Given the description of an element on the screen output the (x, y) to click on. 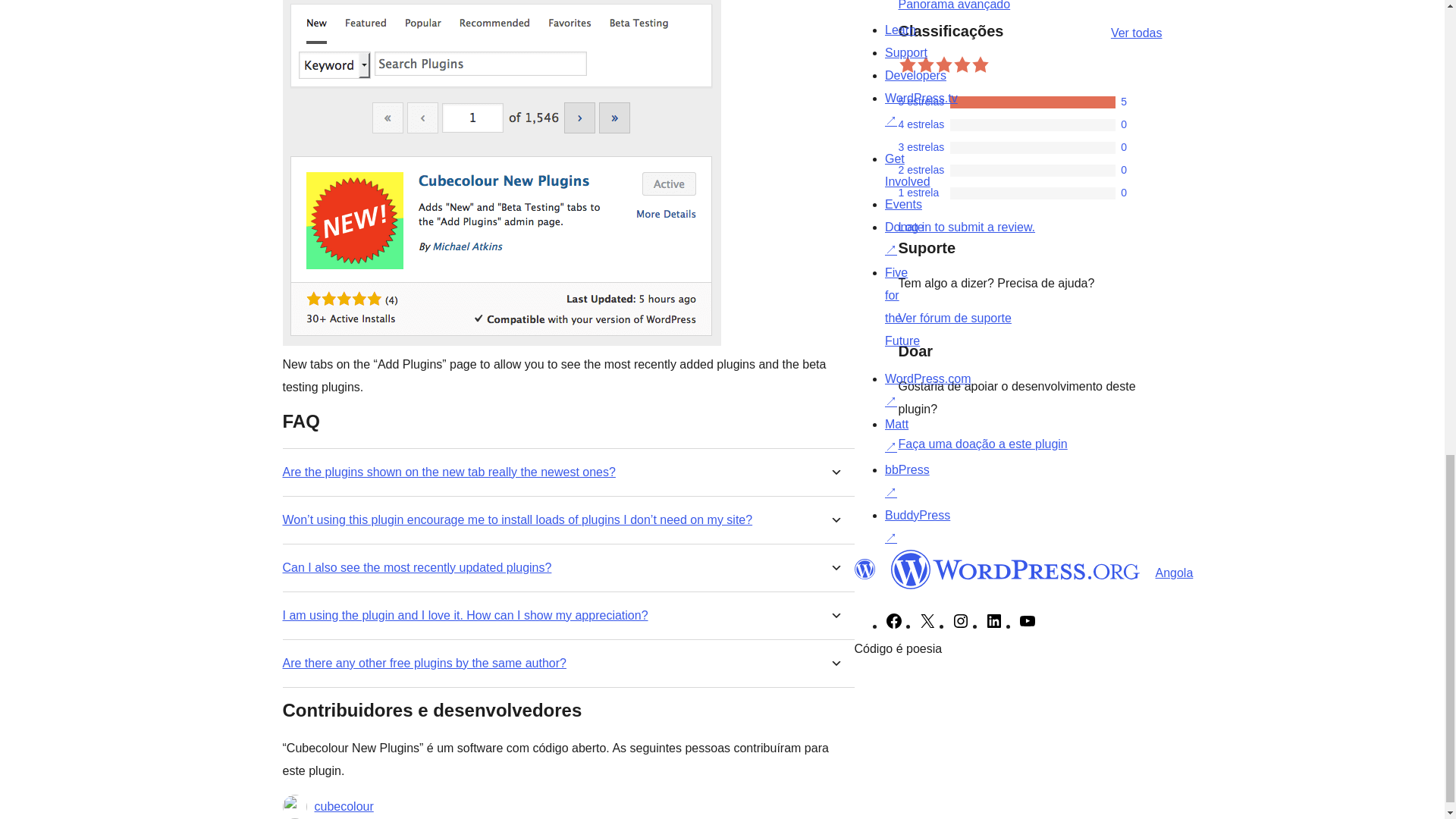
WordPress.org (864, 568)
Log in to WordPress.org (966, 226)
WordPress.org (1014, 568)
